Given the description of an element on the screen output the (x, y) to click on. 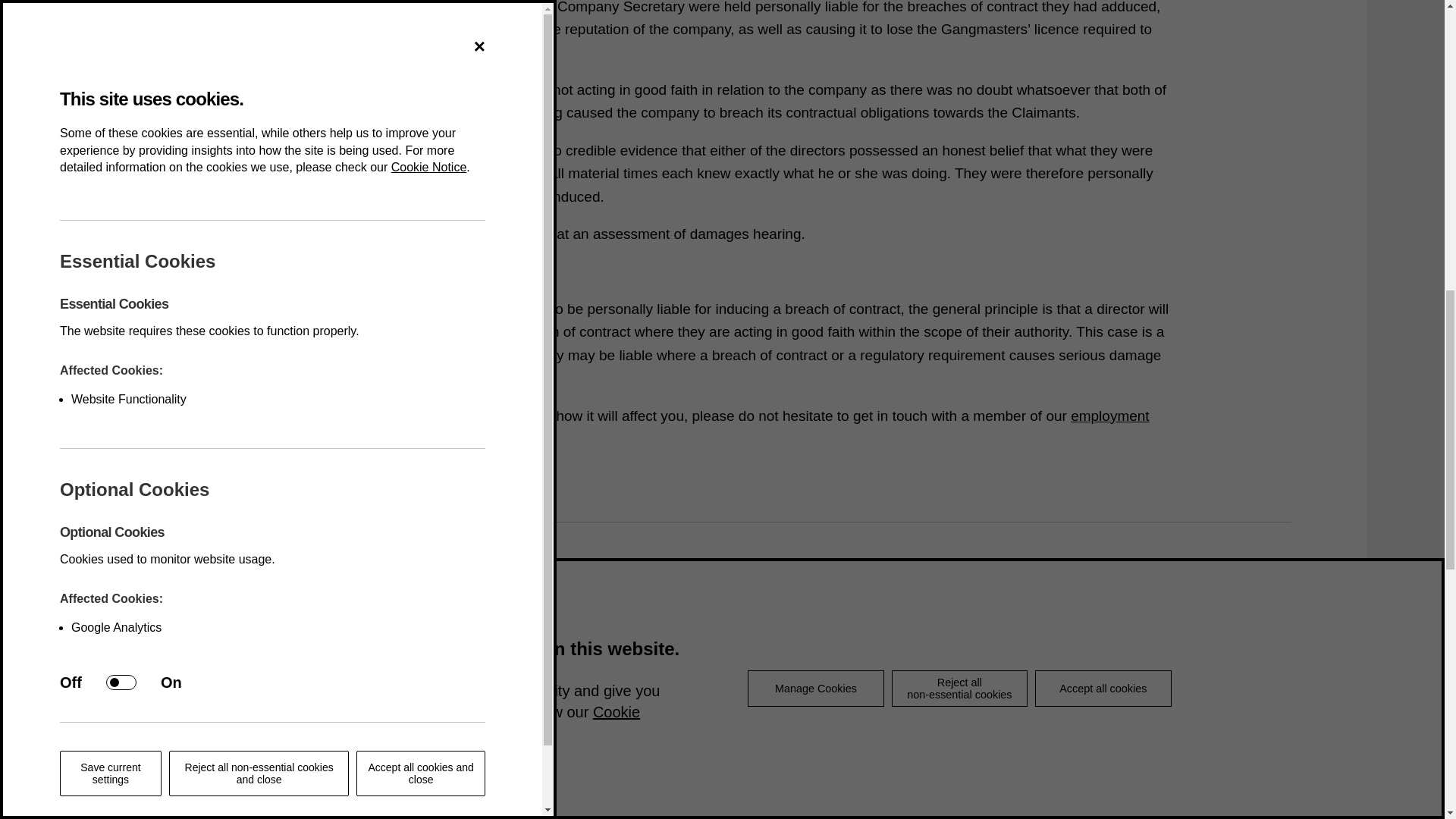
employment team (710, 426)
